Given the description of an element on the screen output the (x, y) to click on. 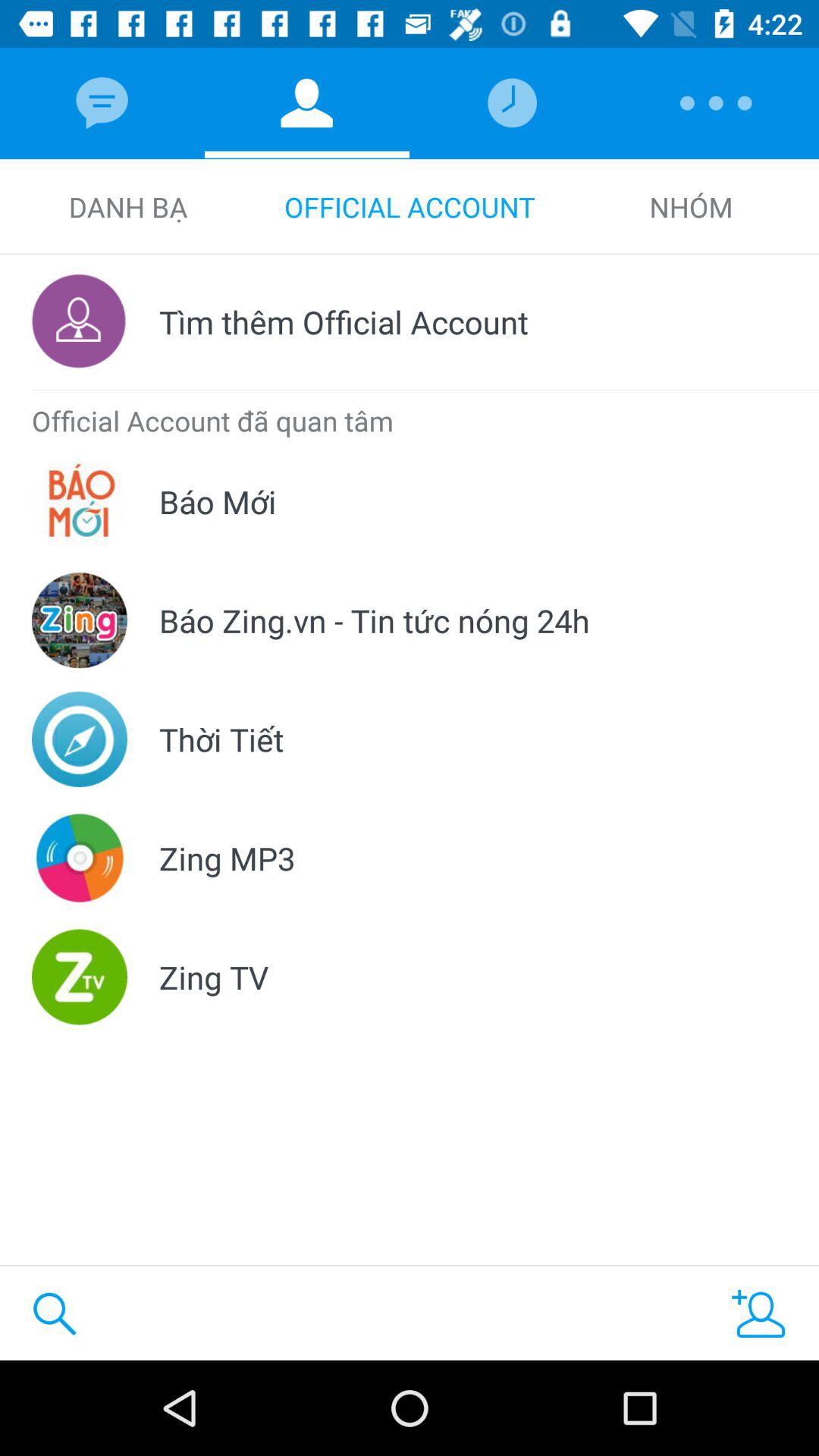
turn off item at the center (374, 620)
